Given the description of an element on the screen output the (x, y) to click on. 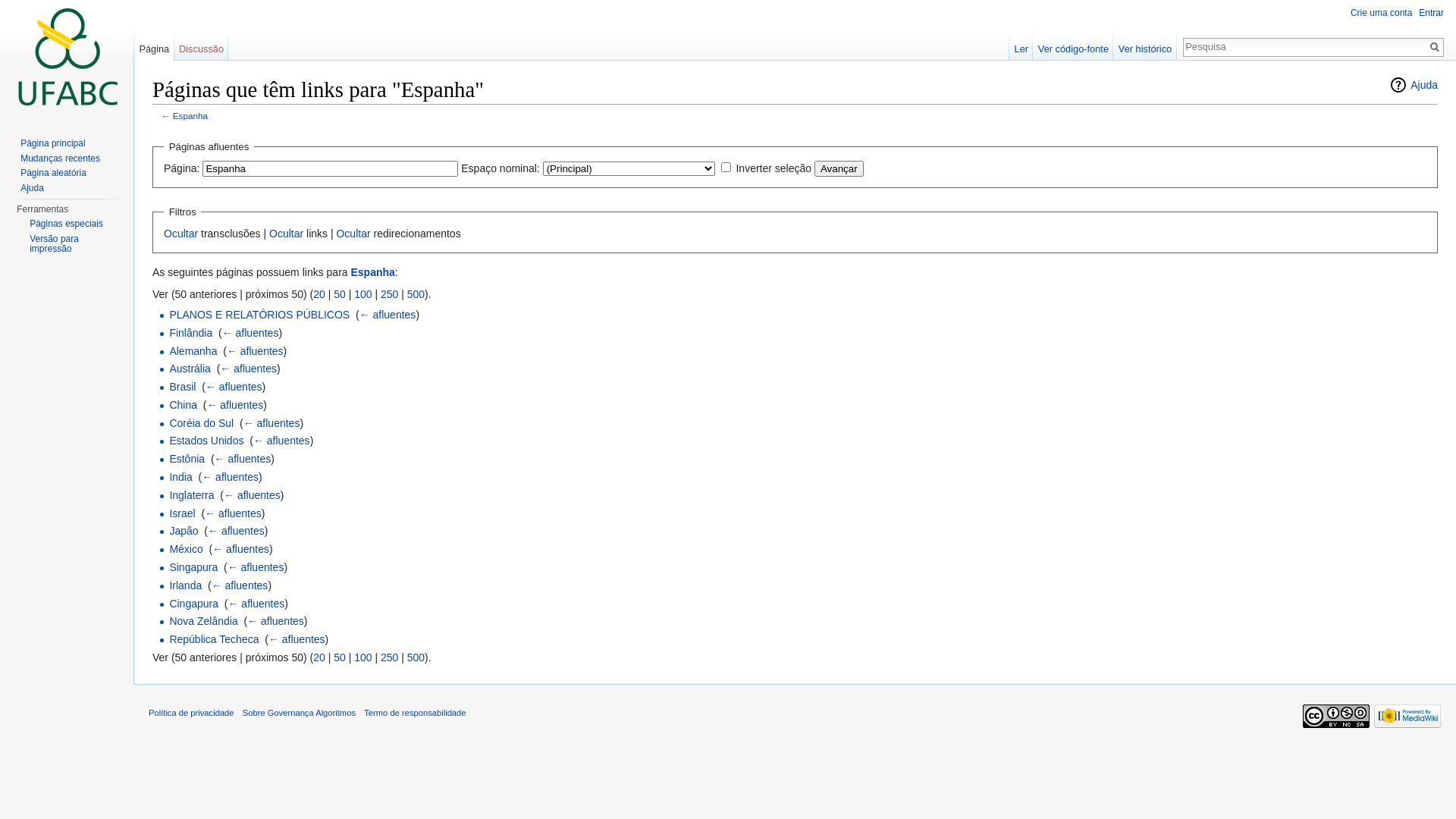
Crie uma conta Element type: text (1381, 12)
Singapura Element type: text (193, 567)
Ajuda Element type: text (31, 187)
Ler Element type: text (1020, 45)
Estados Unidos Element type: text (206, 440)
500 Element type: text (415, 657)
Israel Element type: text (181, 513)
100 Element type: text (362, 294)
Ocultar Element type: text (180, 233)
Ocultar Element type: text (286, 233)
Cingapura Element type: text (193, 603)
India Element type: text (180, 476)
Brasil Element type: text (182, 386)
Termo de responsabilidade Element type: text (414, 712)
Entrar Element type: text (1430, 12)
Alemanha Element type: text (192, 351)
50 Element type: text (339, 657)
50 Element type: text (339, 294)
500 Element type: text (415, 294)
Inglaterra Element type: text (191, 495)
Espanha Element type: text (189, 115)
20 Element type: text (319, 294)
China Element type: text (183, 404)
Irlanda Element type: text (185, 585)
20 Element type: text (319, 657)
100 Element type: text (362, 657)
250 Element type: text (389, 657)
Ir Element type: text (1434, 46)
Espanha Element type: text (372, 272)
Ajuda Element type: text (1413, 84)
Ocultar Element type: text (352, 233)
250 Element type: text (389, 294)
